Given the description of an element on the screen output the (x, y) to click on. 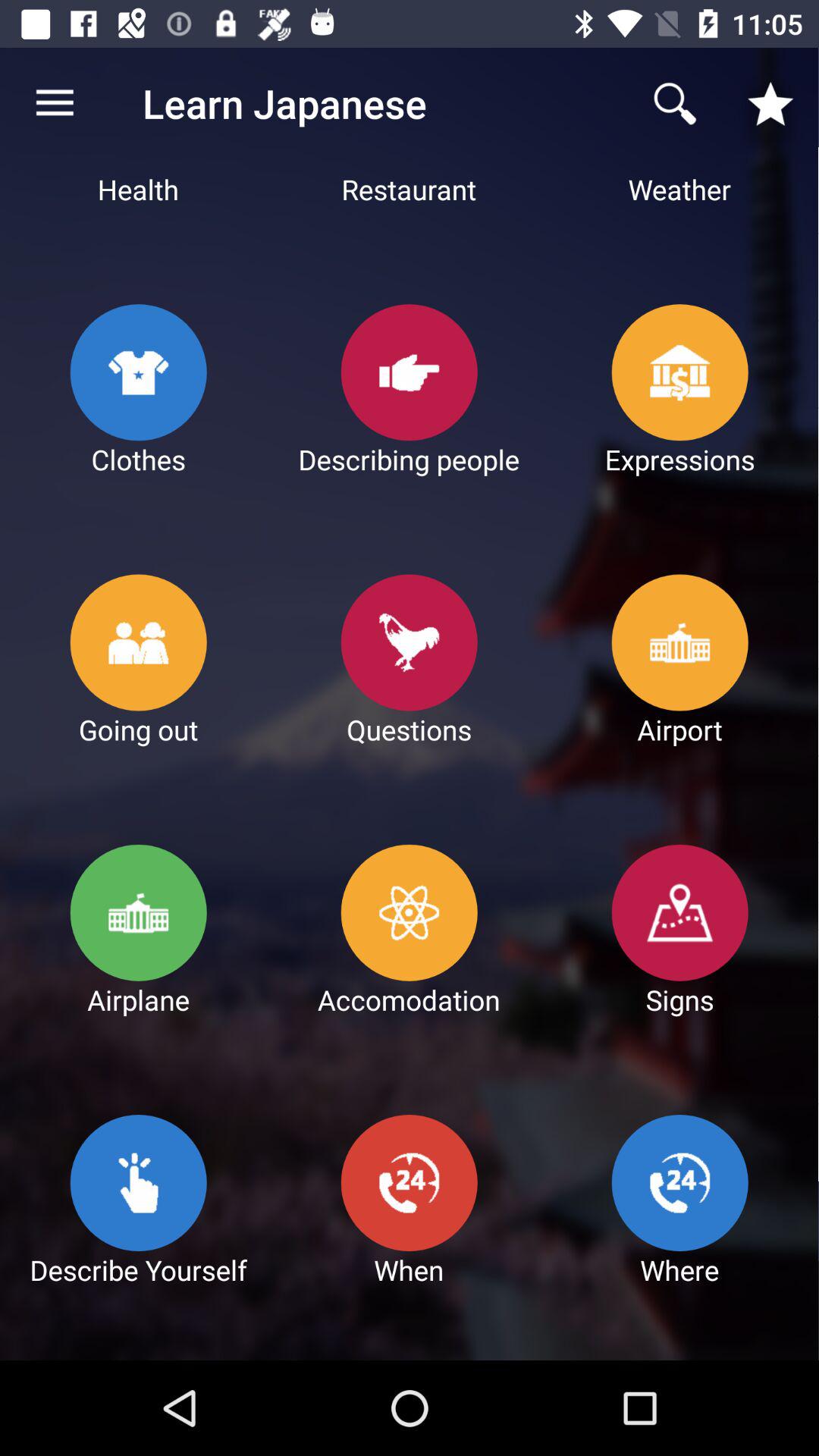
click on search button (675, 103)
select image above clothes (139, 372)
click on the icon below airport (680, 912)
select the icon which is next to the going out icon (410, 643)
